Given the description of an element on the screen output the (x, y) to click on. 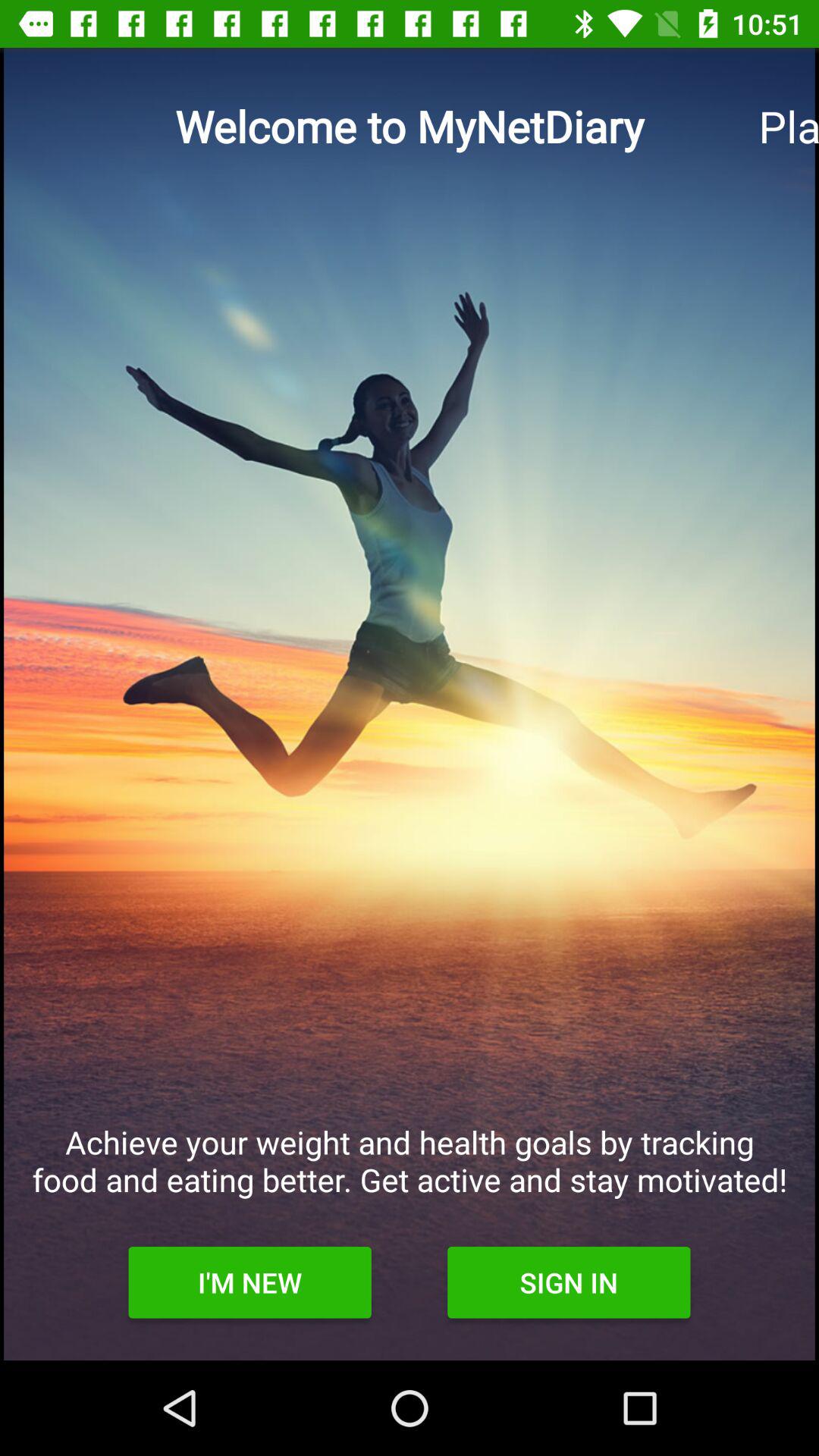
select the item next to sign in item (249, 1282)
